Given the description of an element on the screen output the (x, y) to click on. 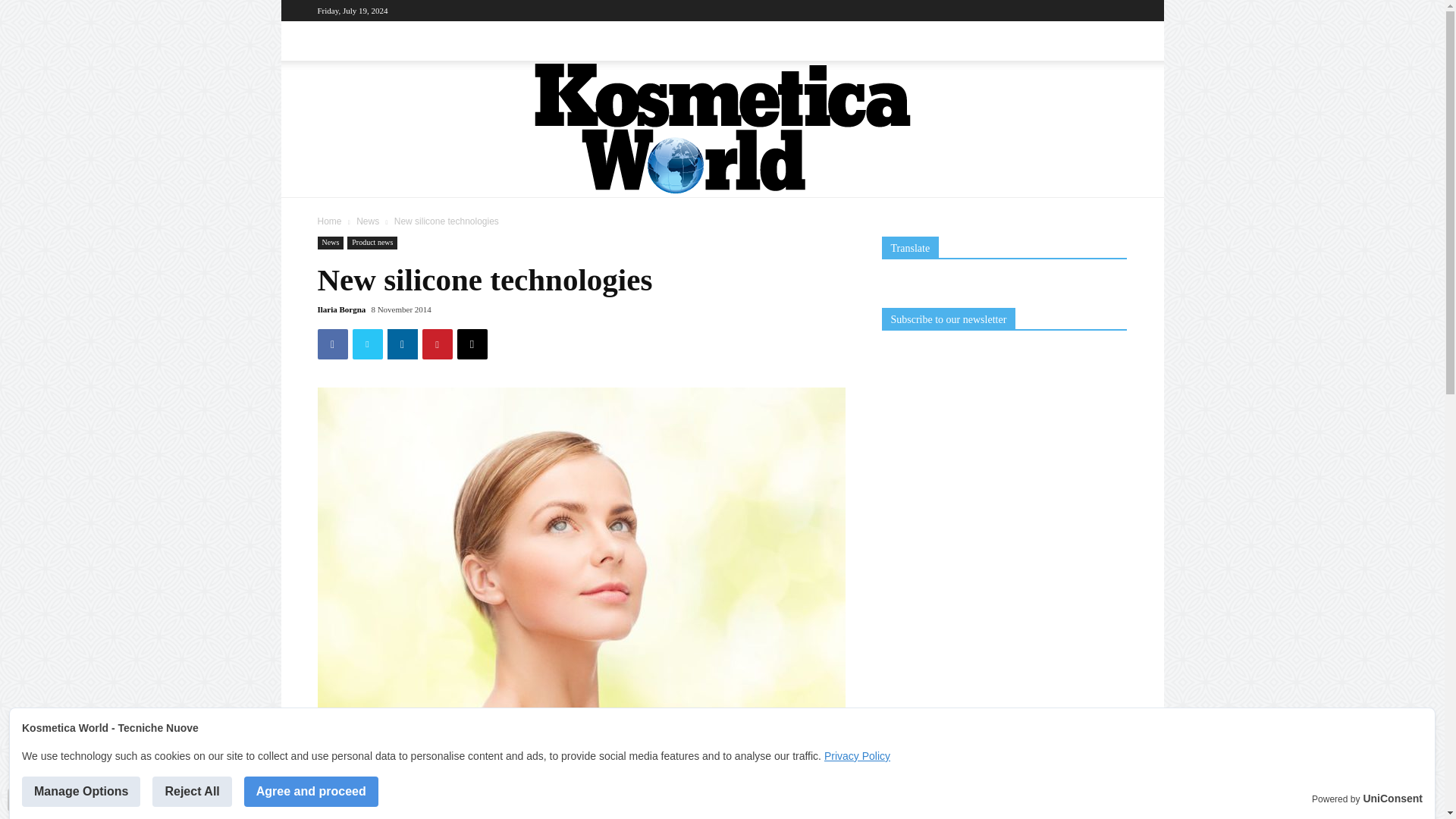
MARKET (351, 40)
Privacy Policy (856, 756)
Agree and proceed (311, 791)
News (330, 242)
Product news (372, 242)
Manage Consent (18, 799)
RAW MATERIALS (529, 40)
News (367, 221)
UniConsent (1392, 798)
View all posts in News (367, 221)
Manage Options (80, 791)
Reject All (191, 791)
PACKAGING (430, 40)
Search (1085, 102)
UniConsent Consent Manager (1392, 798)
